Given the description of an element on the screen output the (x, y) to click on. 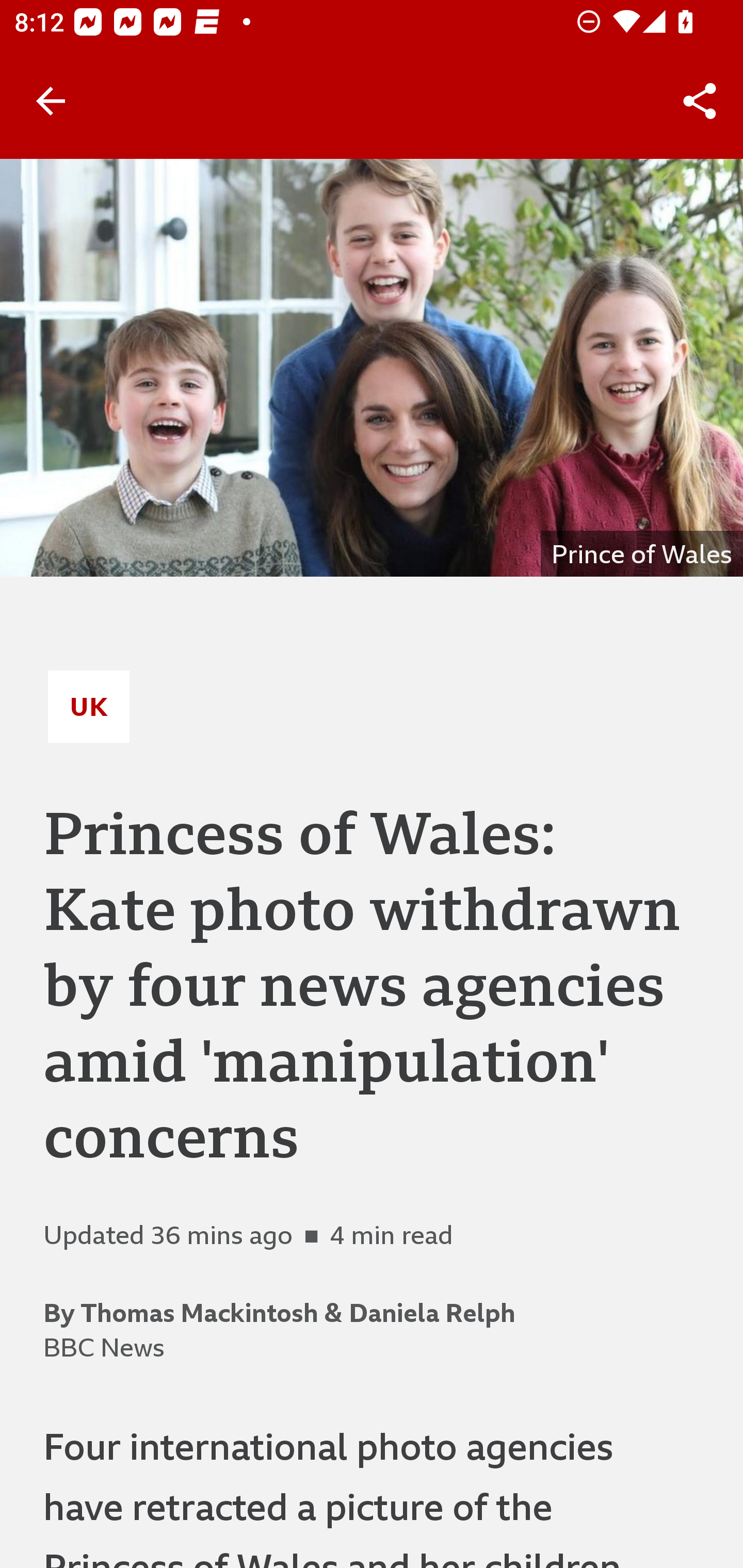
Back (50, 101)
Share (699, 101)
UK (88, 706)
